Given the description of an element on the screen output the (x, y) to click on. 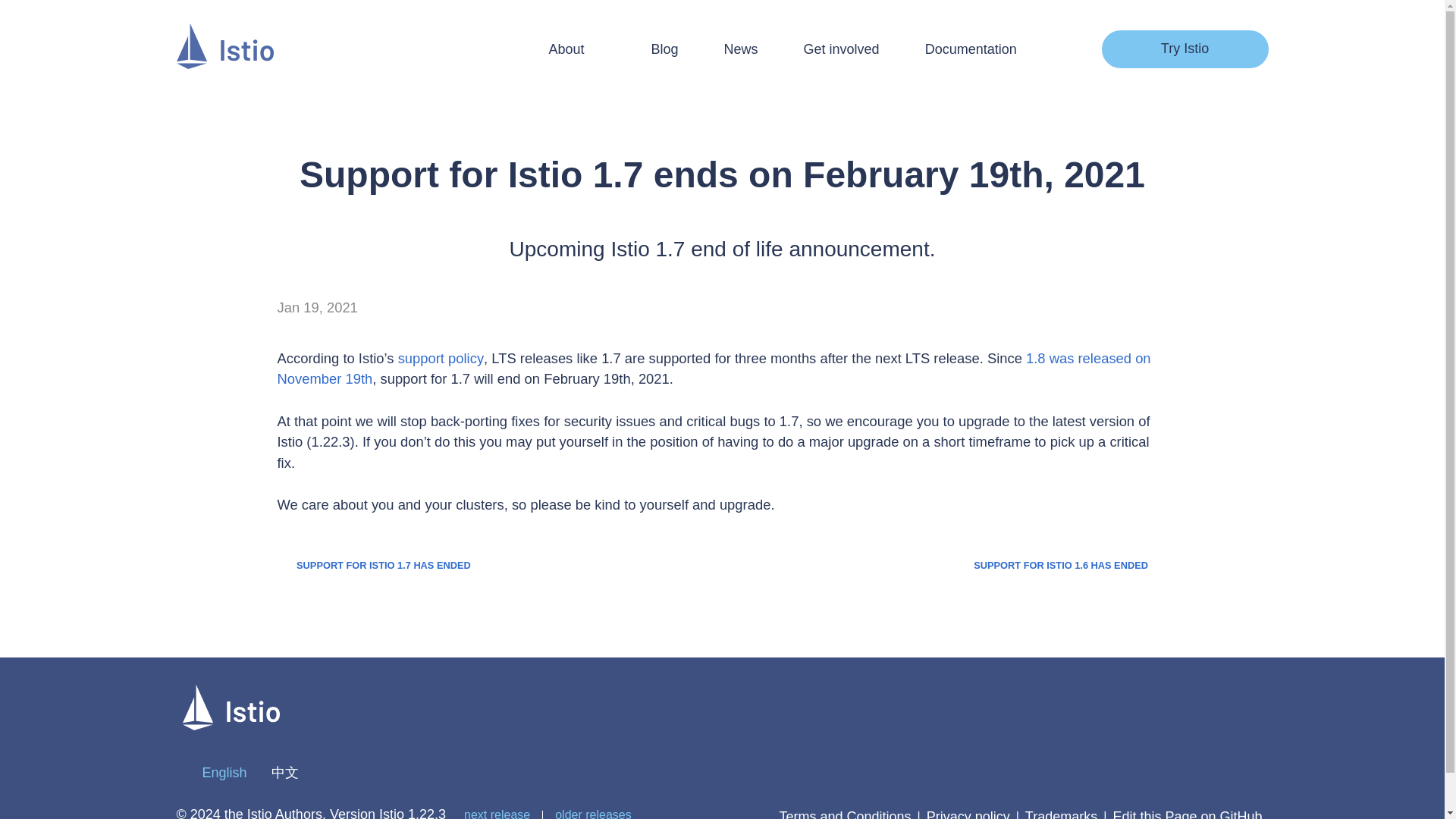
Blog (664, 49)
About (576, 49)
support policy (440, 358)
News (740, 49)
Istio 1.7 end of life announcement. (374, 564)
Get involved (841, 49)
1.8 was released on November 19th (714, 368)
Search this site (1051, 49)
SUPPORT FOR ISTIO 1.6 HAS ENDED (1070, 564)
Try Istio (1184, 48)
Documentation (970, 49)
SUPPORT FOR ISTIO 1.7 HAS ENDED (374, 564)
Istio 1.6 end of life announcement. (1070, 564)
